Given the description of an element on the screen output the (x, y) to click on. 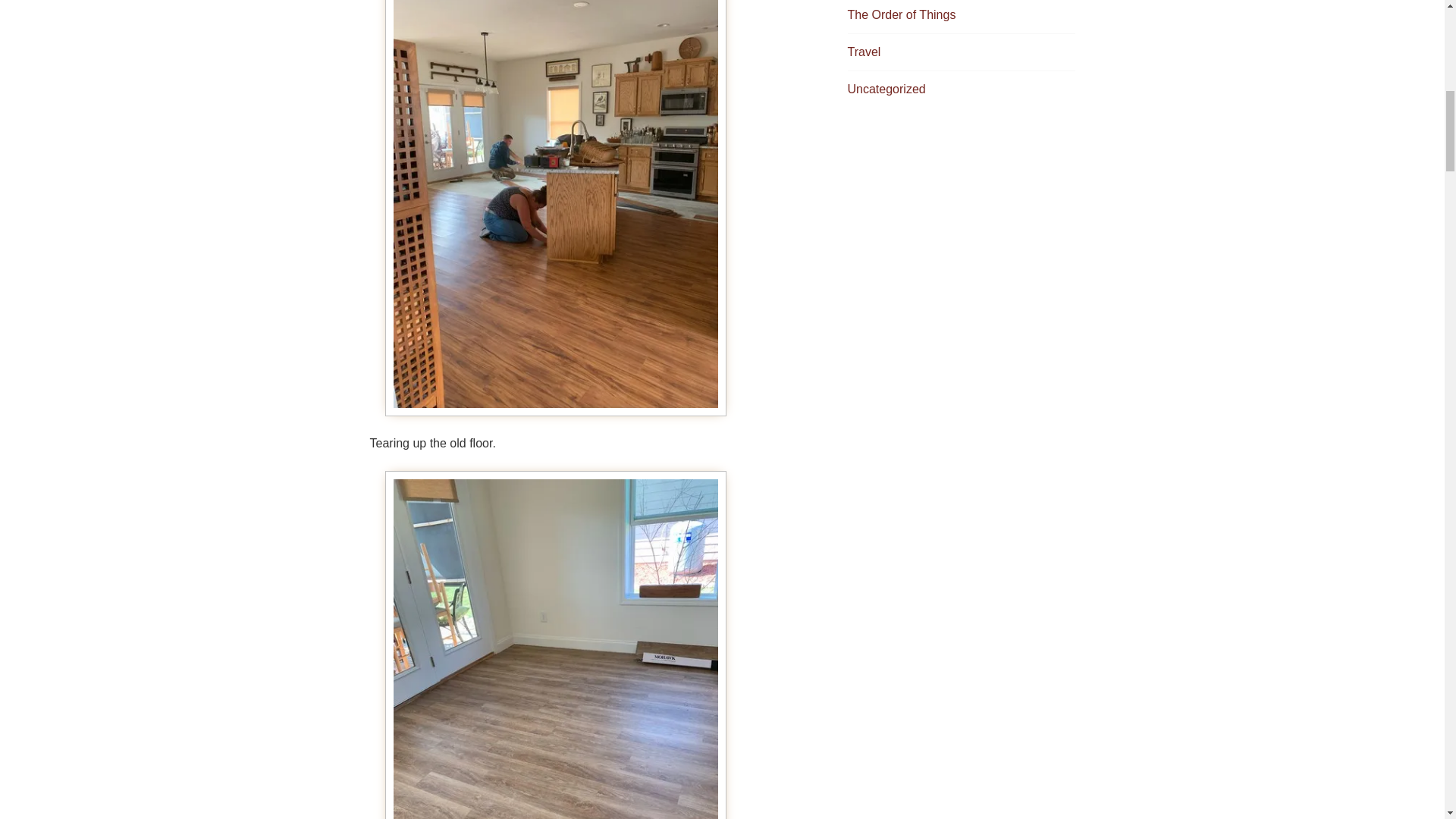
Uncategorized (886, 88)
The Order of Things (901, 14)
Travel (863, 51)
